Given the description of an element on the screen output the (x, y) to click on. 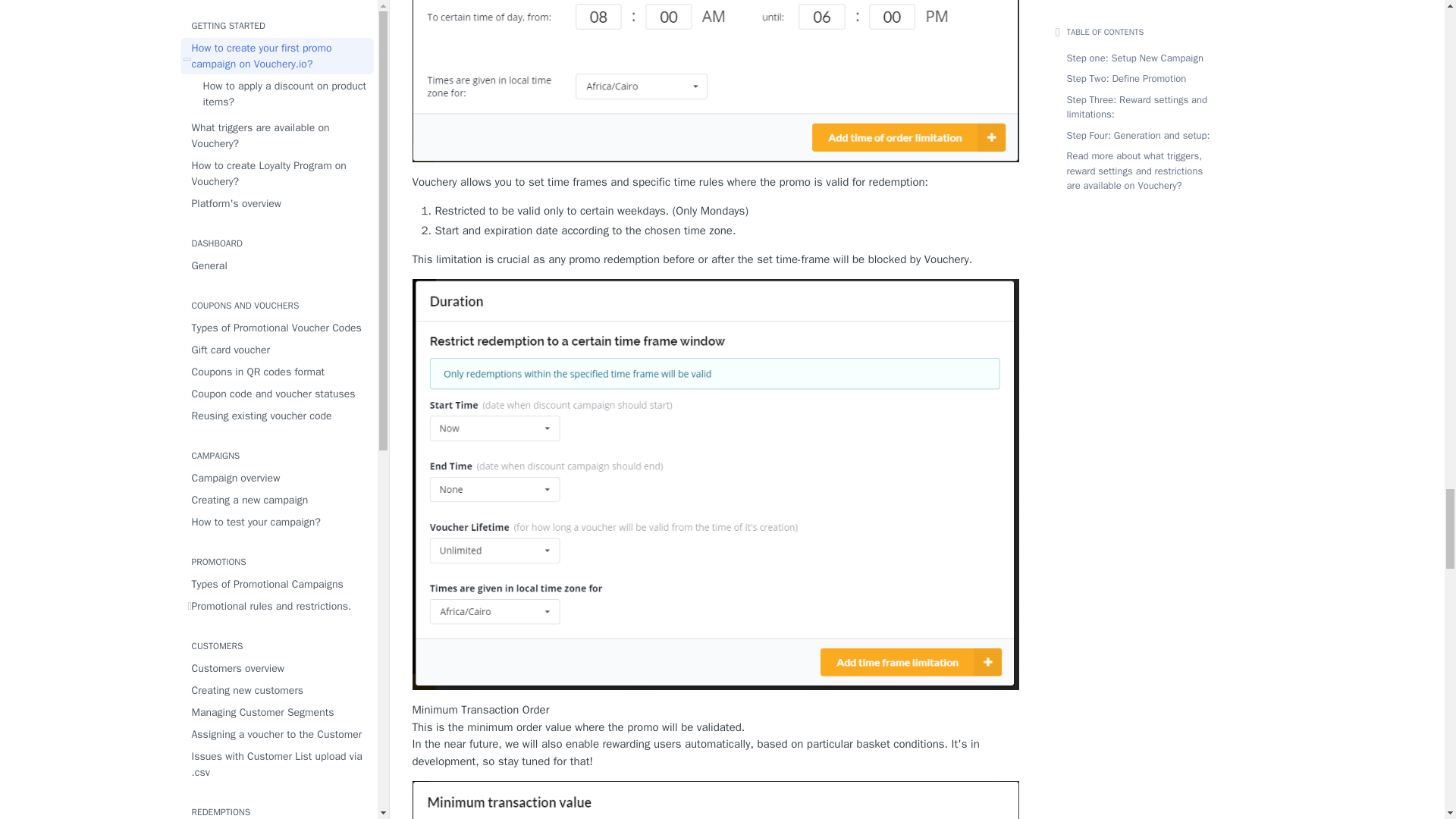
time of order.png (715, 81)
minimum transaction value.png (715, 800)
